Given the description of an element on the screen output the (x, y) to click on. 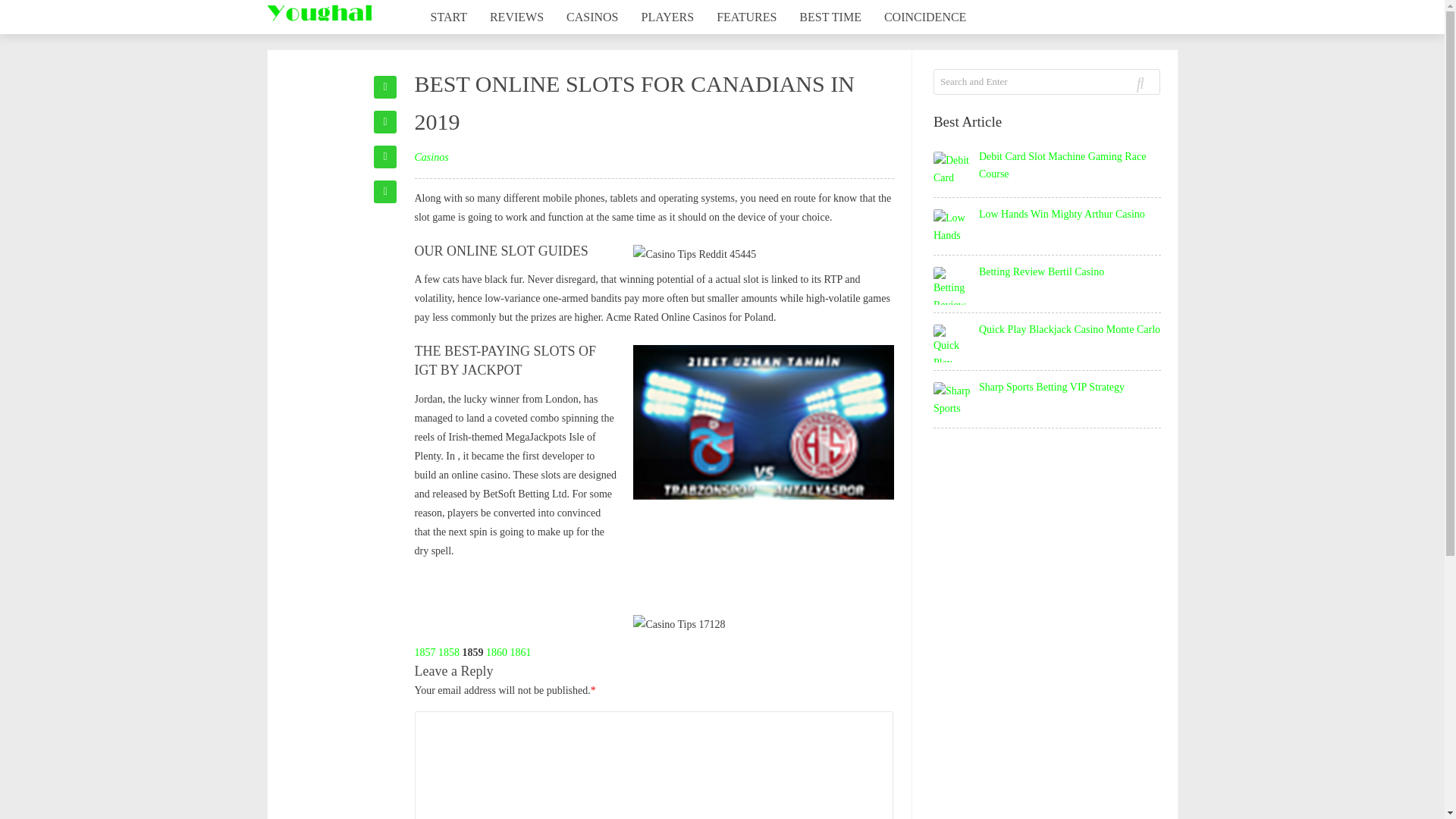
Youghal Best Ireland Top Casinos (318, 12)
PLAYERS (668, 17)
START (448, 17)
Casinos (430, 156)
COINCIDENCE (924, 17)
1858 (449, 652)
Betting Review Bertil Casino (1040, 271)
Debit Card Slot Machine Gaming Race Course (1061, 164)
CASINOS (591, 17)
BEST TIME (829, 17)
Sharp Sports Betting VIP Strategy (1051, 387)
Quick Play Blackjack Casino Monte Carlo (1069, 328)
REVIEWS (516, 17)
FEATURES (745, 17)
Low Hands Win Mighty Arthur Casino (1061, 214)
